Given the description of an element on the screen output the (x, y) to click on. 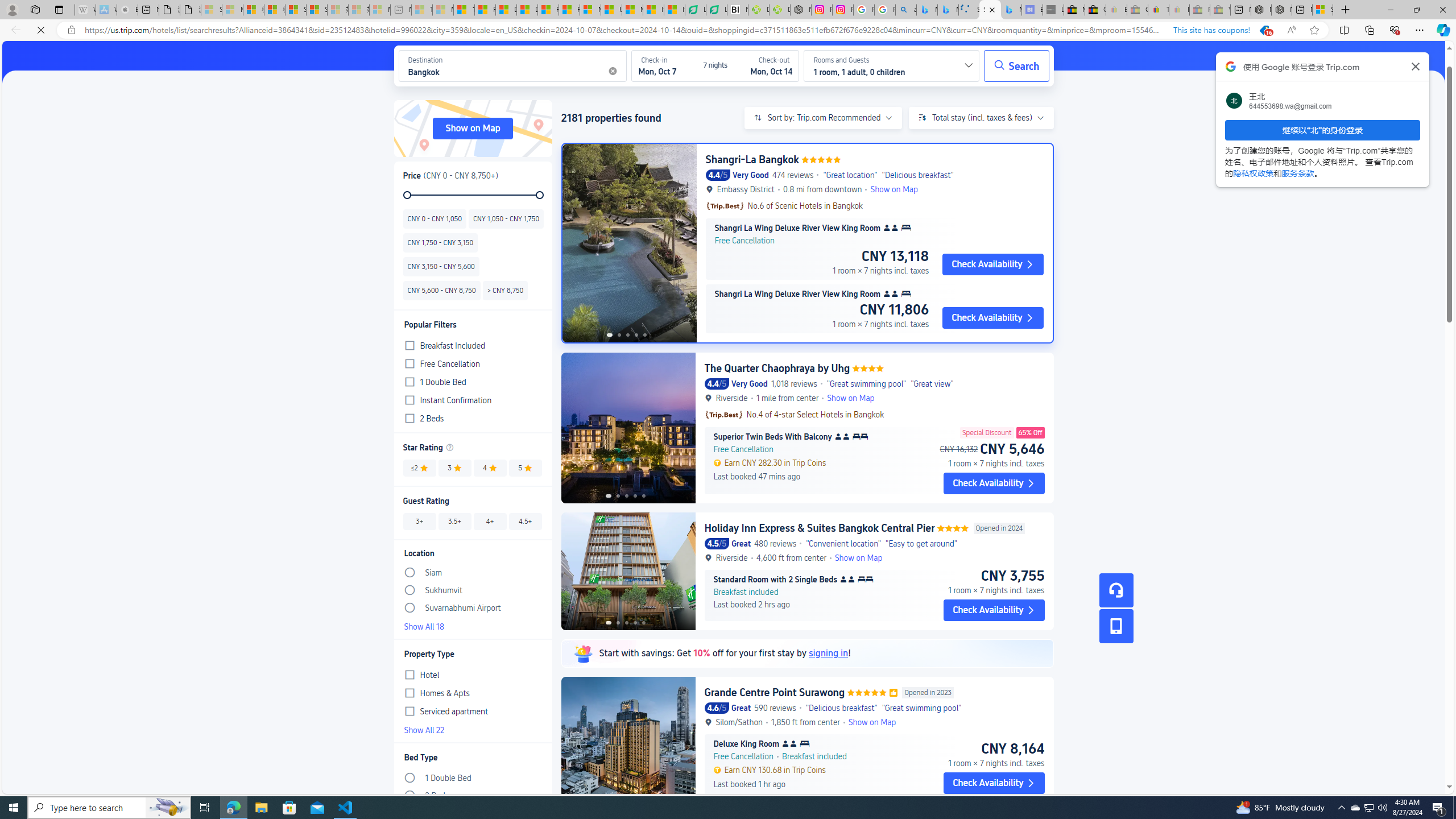
Holiday Inn Express & Suites Bangkok Central Pier (819, 527)
Nordace - Nordace Edin Collection (800, 9)
Nordace - Summer Adventures 2024 (1281, 9)
